Given the description of an element on the screen output the (x, y) to click on. 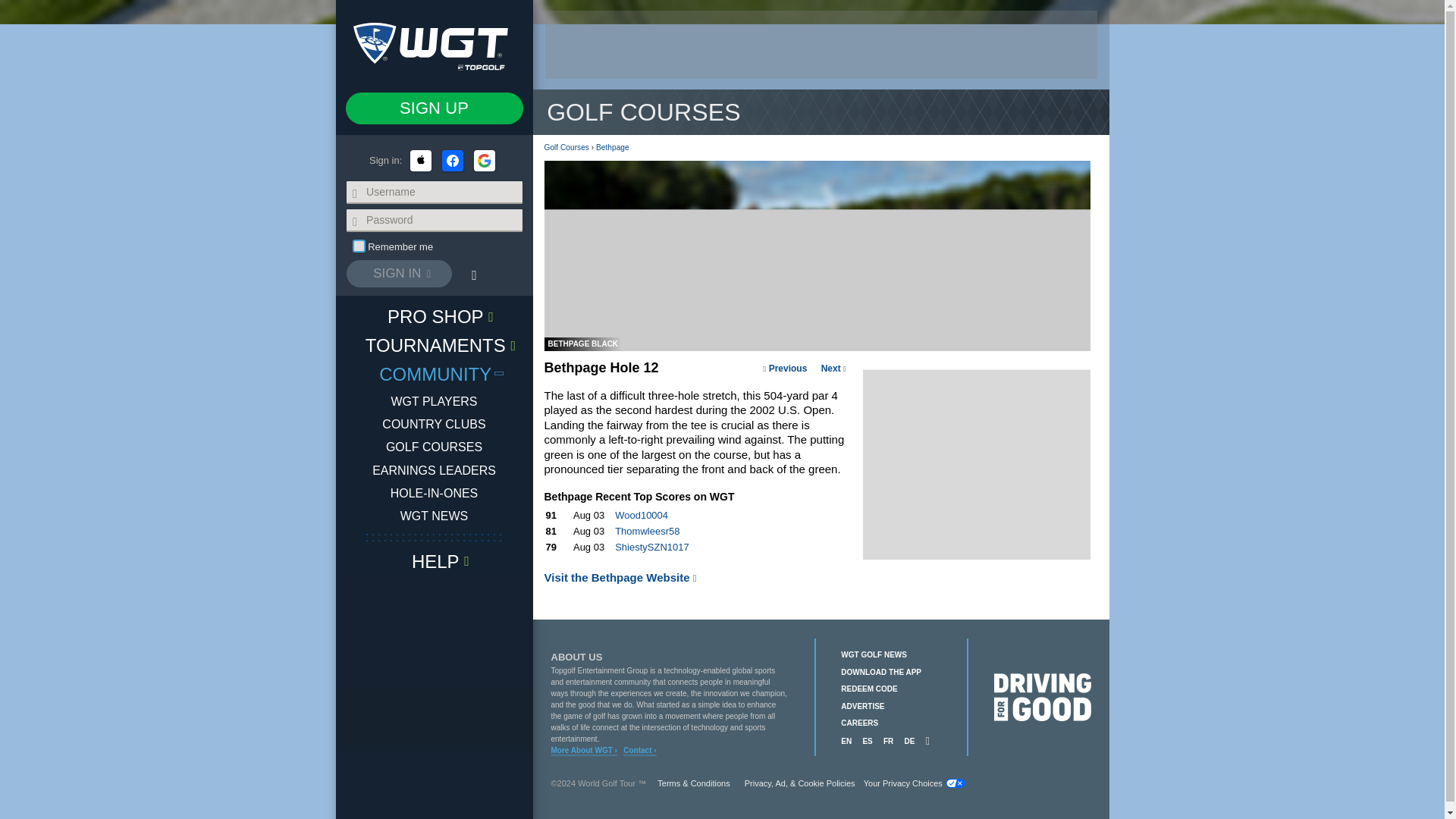
SIGN IN (398, 273)
PRO SHOP (433, 316)
WGT NEWS (433, 516)
Sign in with Apple (420, 160)
Sign in with Google (484, 160)
Sign in with Facebook (452, 160)
COUNTRY CLUBS (432, 424)
EARNINGS LEADERS (434, 470)
COMMUNITY (433, 373)
scores in the past month (694, 496)
HELP (433, 561)
11th hole (784, 368)
Forgot your password? (473, 275)
TOURNAMENTS (433, 344)
SIGN UP (434, 108)
